Given the description of an element on the screen output the (x, y) to click on. 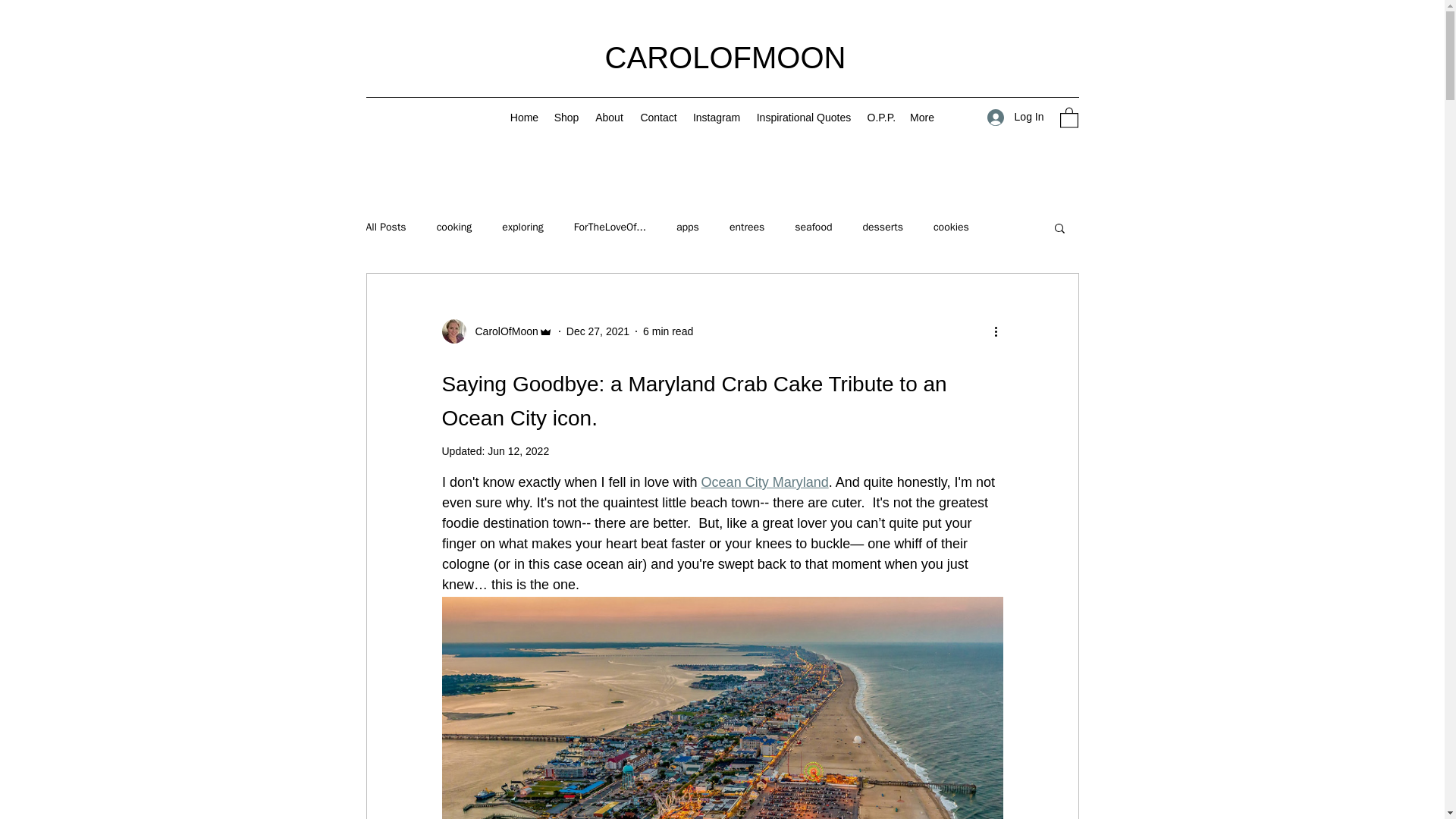
O.P.P. (881, 117)
Contact (658, 117)
cookies (951, 227)
6 min read (668, 330)
seafood (812, 227)
apps (687, 227)
desserts (882, 227)
Dec 27, 2021 (597, 330)
exploring (522, 227)
Shop (566, 117)
